Given the description of an element on the screen output the (x, y) to click on. 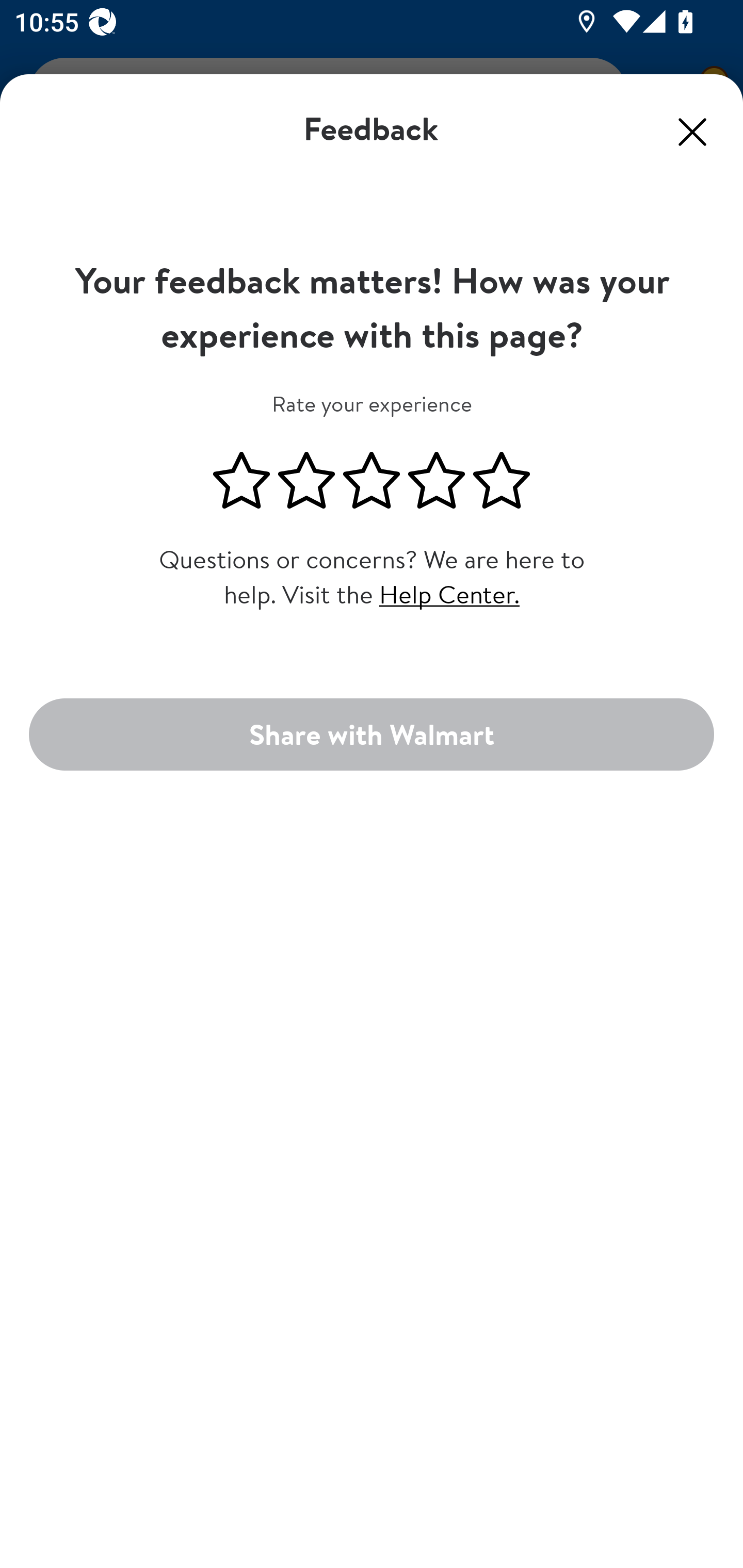
Close (692, 131)
1 out of 5 stars, not selected (241, 480)
2 out of 5 stars, not selected (306, 480)
3 out of 5 stars, not selected (371, 480)
4 out of 5 stars, not selected (436, 480)
5 out of 5 stars, not selected (501, 480)
Share with Walmart (371, 733)
